Given the description of an element on the screen output the (x, y) to click on. 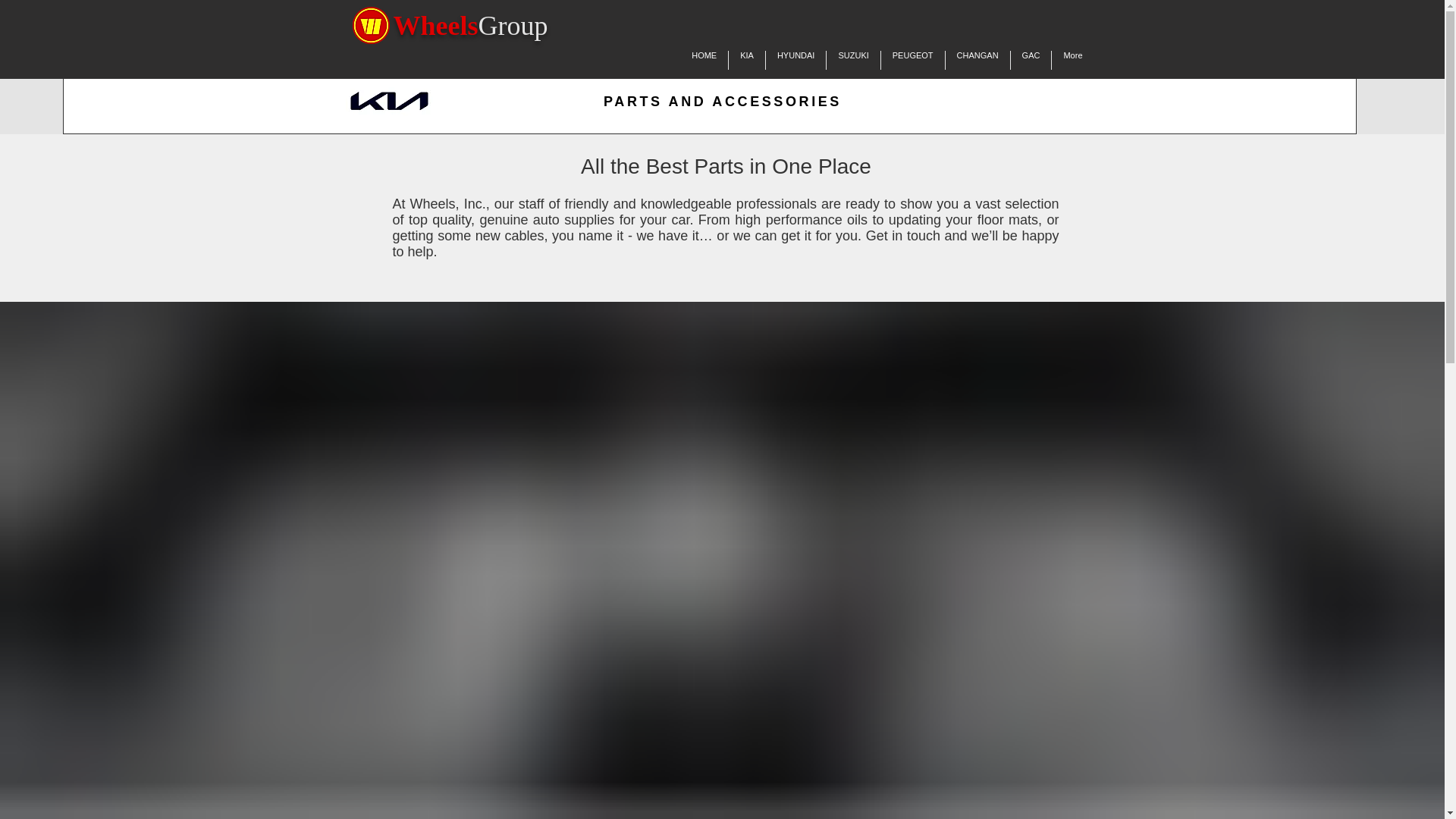
HYUNDAI (796, 59)
SUZUKI (853, 59)
Wheels logo (370, 25)
GAC (1030, 59)
KIA (747, 59)
CHANGAN (977, 59)
Wheels (435, 25)
Group (512, 25)
HOME (703, 59)
PEUGEOT (912, 59)
